Given the description of an element on the screen output the (x, y) to click on. 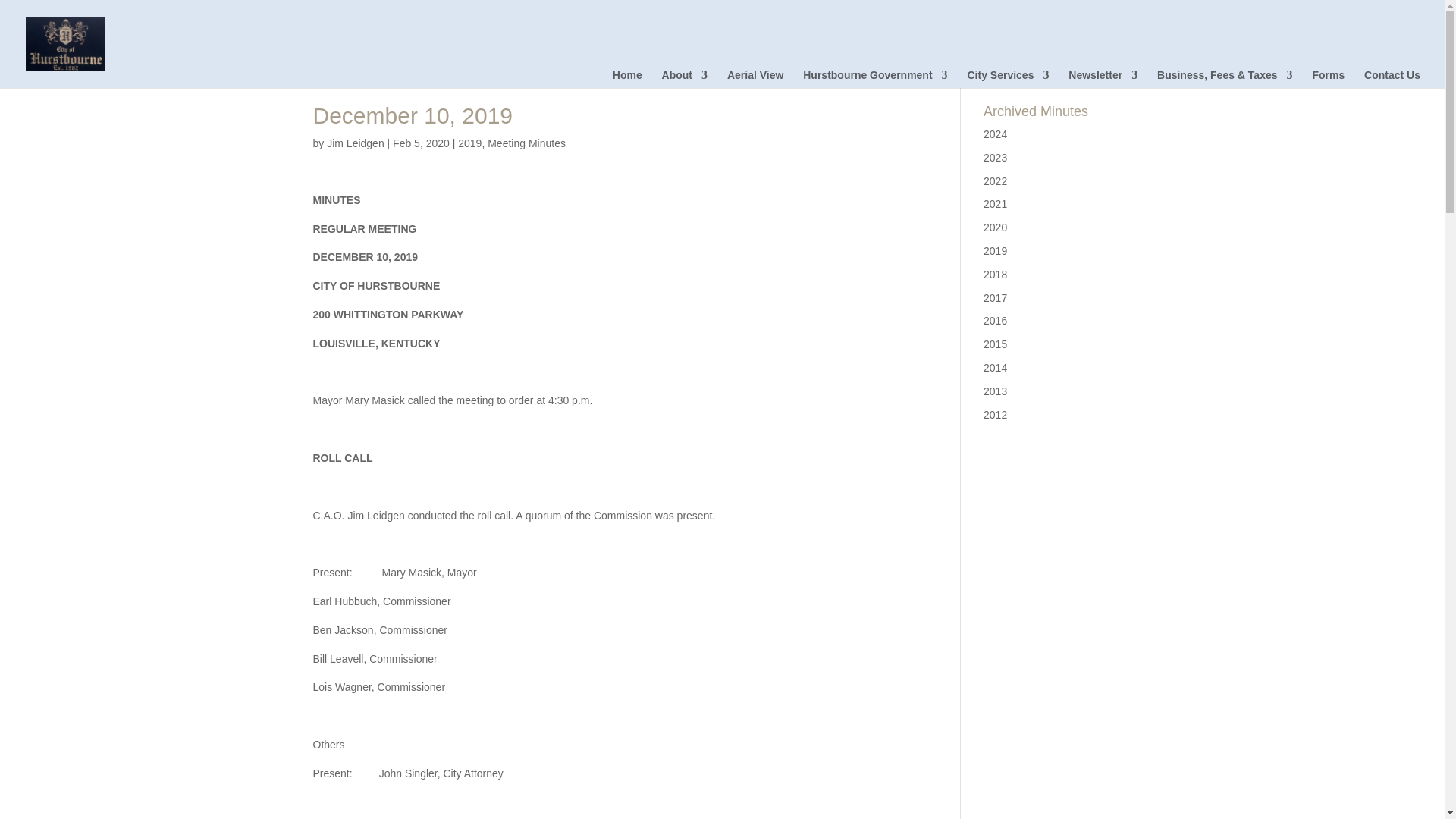
Hurstbourne Government (875, 78)
2022 (995, 181)
Forms (1327, 78)
Posts by Jim Leidgen (355, 143)
2023 (995, 157)
Aerial View (754, 78)
City Services (1007, 78)
About (684, 78)
Home (627, 78)
2019 (469, 143)
